Given the description of an element on the screen output the (x, y) to click on. 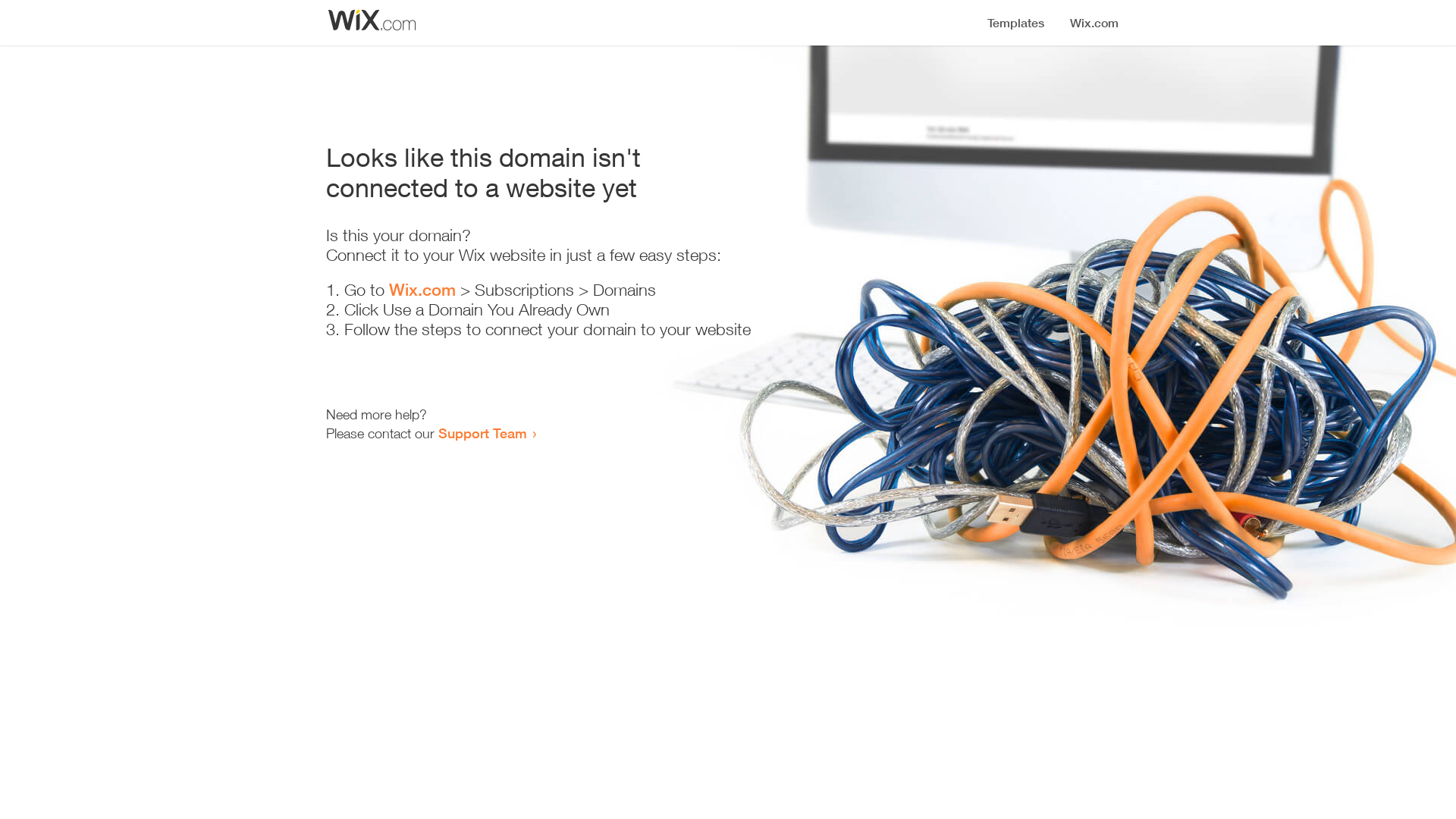
Support Team Element type: text (482, 432)
Wix.com Element type: text (422, 289)
